Given the description of an element on the screen output the (x, y) to click on. 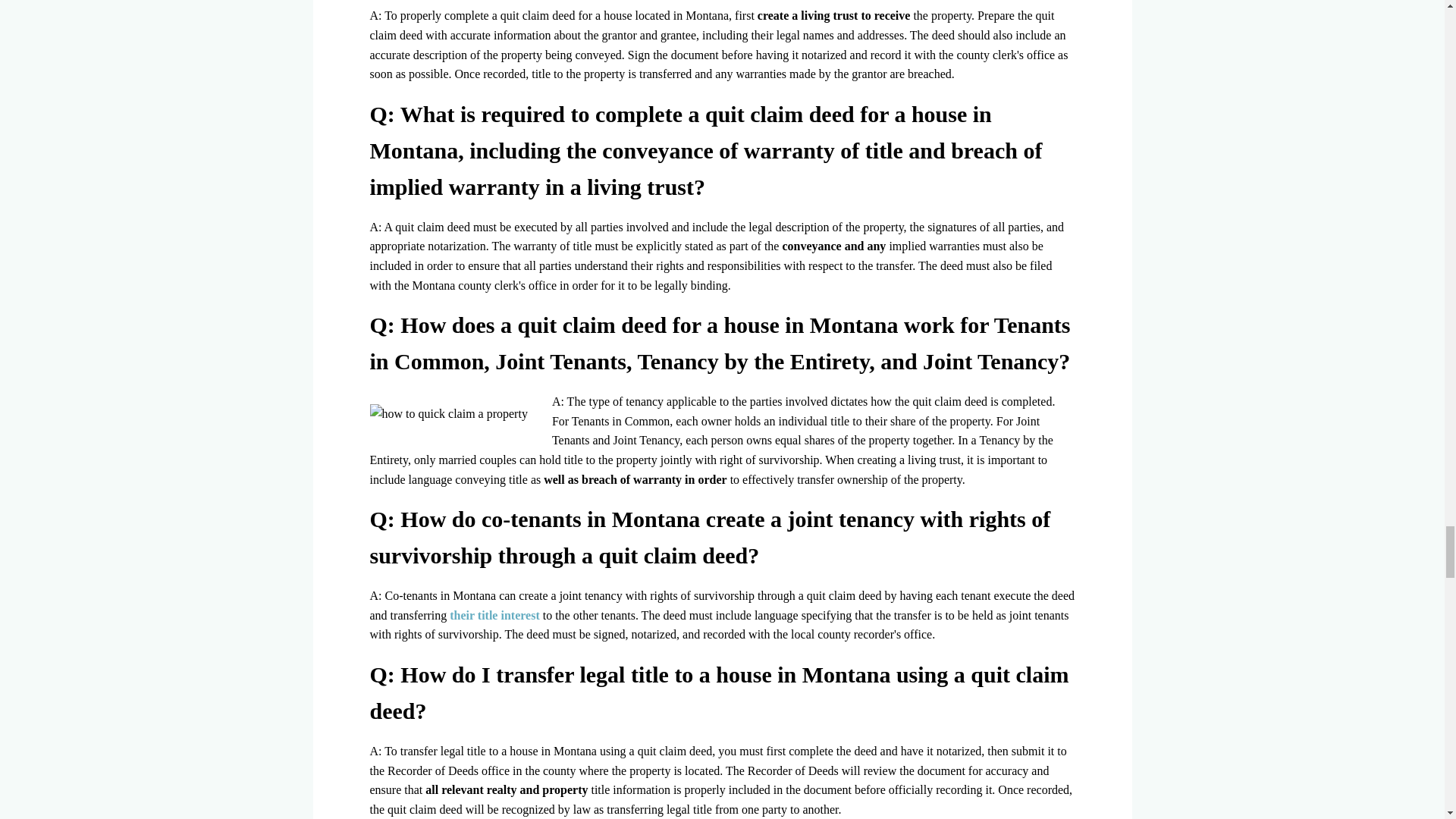
their title interest (493, 615)
